Given the description of an element on the screen output the (x, y) to click on. 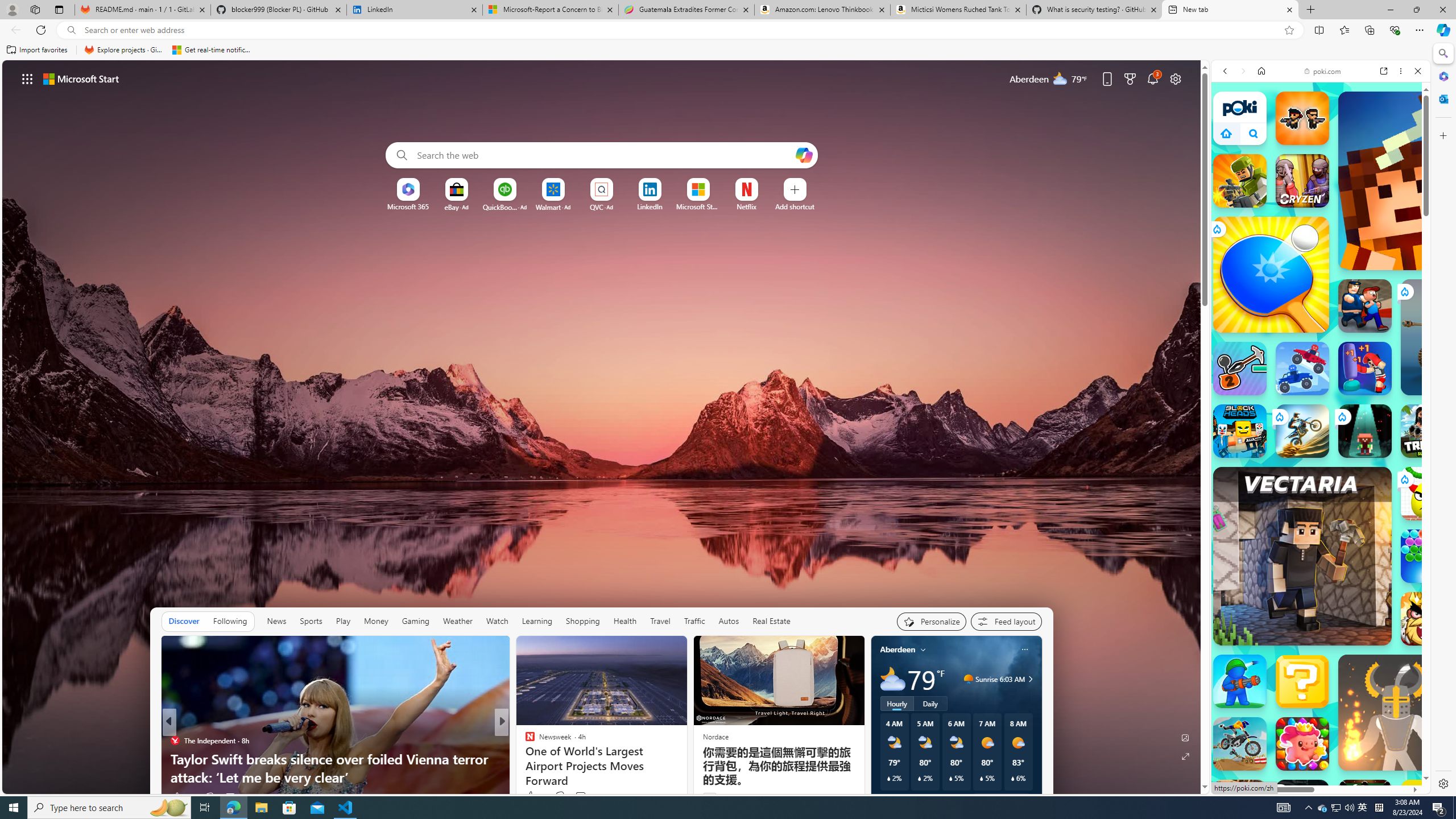
Stunt Bike Extreme (1302, 430)
Two Player Games (1320, 342)
Blockheads Blockheads (1239, 430)
SUBWAY SURFERS - Play Online for Free! | Poki (1315, 784)
View comments 65 Comment (585, 796)
Import favorites (36, 49)
215 Like (532, 796)
Like a King Like a King (1427, 618)
Games for Girls (1320, 426)
